Given the description of an element on the screen output the (x, y) to click on. 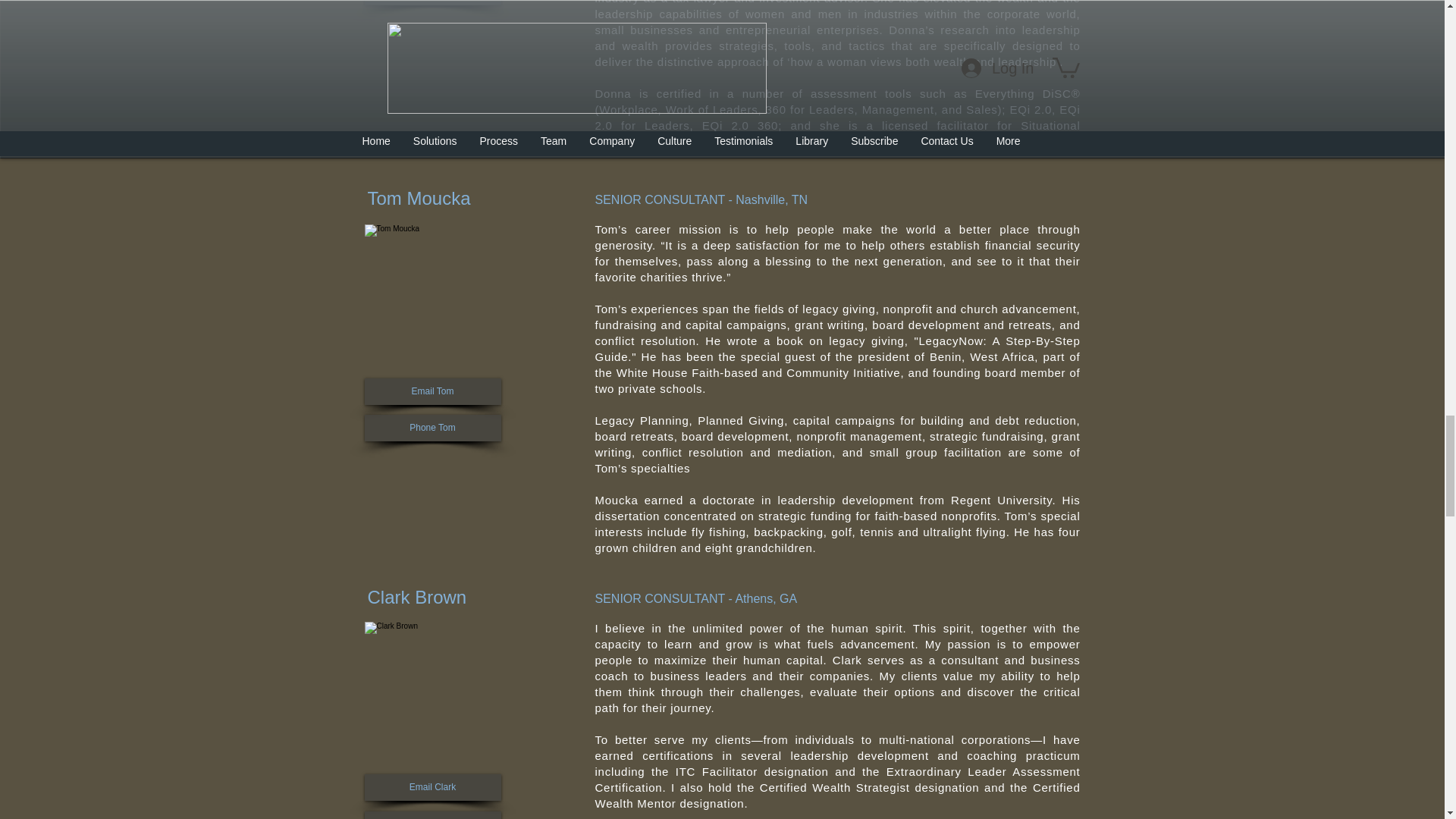
Phone Donna (432, 2)
Phone Clark (432, 815)
Phone Tom (432, 427)
Email Clark (432, 786)
Email Tom (432, 391)
